Given the description of an element on the screen output the (x, y) to click on. 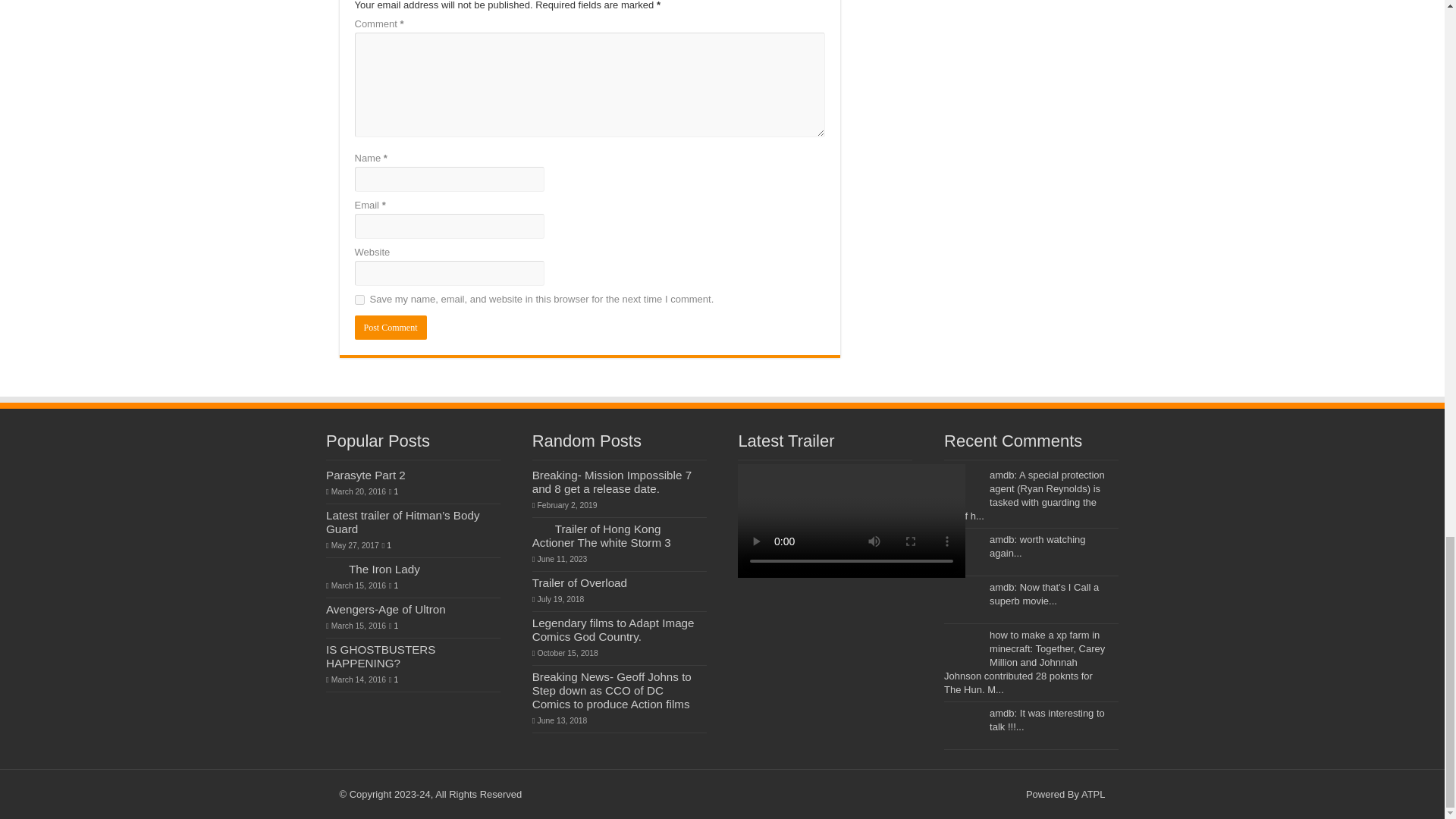
Post Comment (390, 327)
yes (360, 299)
